Given the description of an element on the screen output the (x, y) to click on. 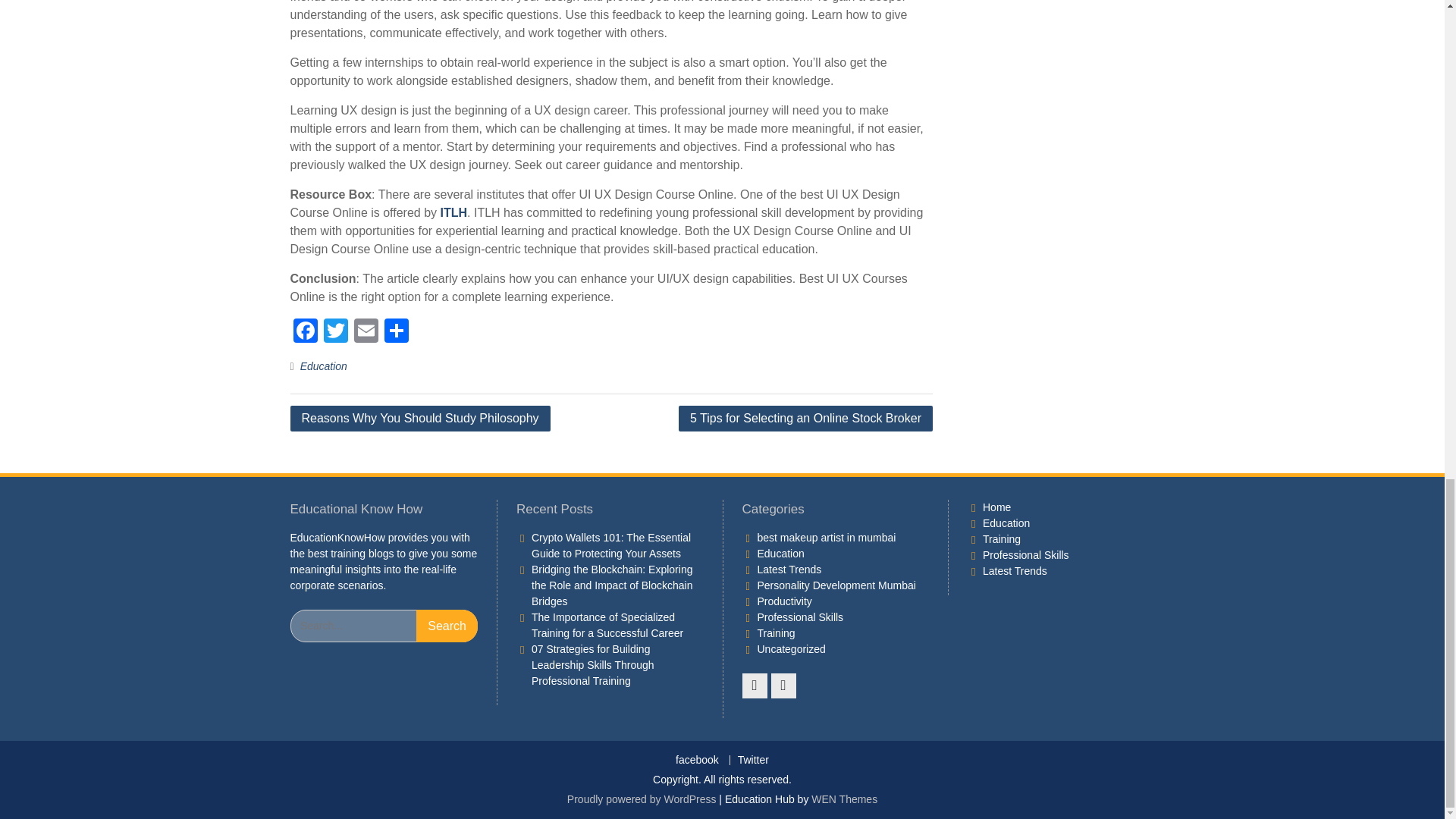
Professional Skills (800, 616)
Twitter (335, 332)
Training (775, 633)
Email (365, 332)
Productivity (783, 601)
Twitter (335, 332)
Best makeup artist (826, 537)
ITLH (454, 212)
Search for: (383, 625)
